Given the description of an element on the screen output the (x, y) to click on. 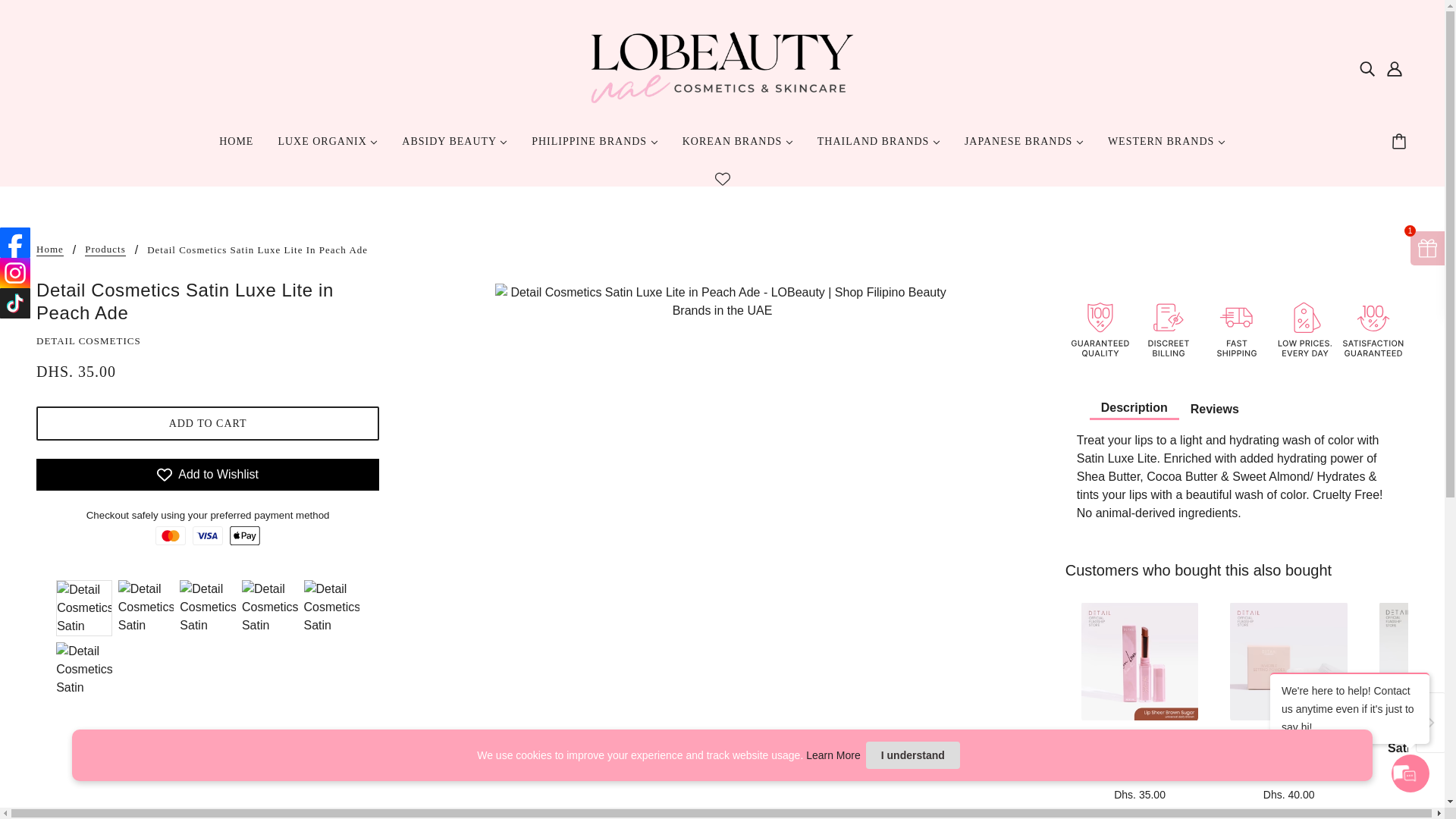
HOME (235, 147)
Facebook (15, 242)
PHILIPPINE BRANDS (594, 147)
Instagram (15, 272)
ABSIDY BEAUTY (454, 147)
LUXE ORGANIX (327, 147)
